Given the description of an element on the screen output the (x, y) to click on. 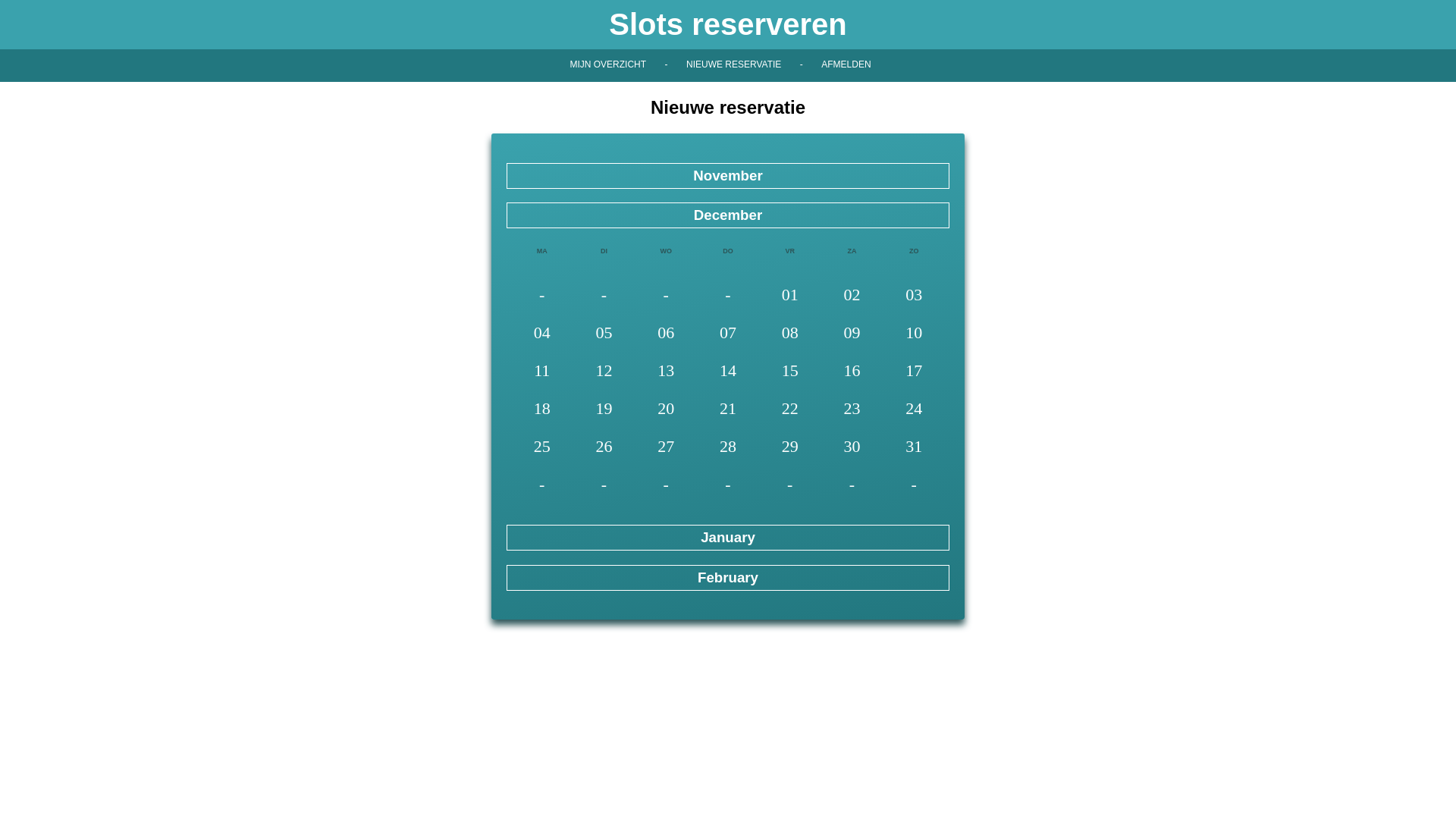
23 Element type: text (852, 409)
29 Element type: text (790, 447)
February Element type: text (727, 576)
MIJN OVERZICHT Element type: text (607, 64)
12 Element type: text (604, 371)
January Element type: text (727, 537)
14 Element type: text (727, 371)
24 Element type: text (913, 409)
NIEUWE RESERVATIE Element type: text (733, 64)
04 Element type: text (542, 333)
10 Element type: text (913, 333)
19 Element type: text (604, 409)
02 Element type: text (852, 295)
16 Element type: text (852, 371)
27 Element type: text (665, 447)
20 Element type: text (665, 409)
25 Element type: text (542, 447)
05 Element type: text (604, 333)
- Element type: text (666, 64)
31 Element type: text (913, 447)
- Element type: text (801, 64)
01 Element type: text (790, 295)
28 Element type: text (727, 447)
21 Element type: text (727, 409)
November Element type: text (727, 175)
22 Element type: text (790, 409)
06 Element type: text (665, 333)
AFMELDEN Element type: text (845, 64)
08 Element type: text (790, 333)
December Element type: text (727, 215)
26 Element type: text (604, 447)
17 Element type: text (913, 371)
11 Element type: text (542, 371)
09 Element type: text (852, 333)
30 Element type: text (852, 447)
07 Element type: text (727, 333)
18 Element type: text (542, 409)
13 Element type: text (665, 371)
03 Element type: text (913, 295)
15 Element type: text (790, 371)
